Given the description of an element on the screen output the (x, y) to click on. 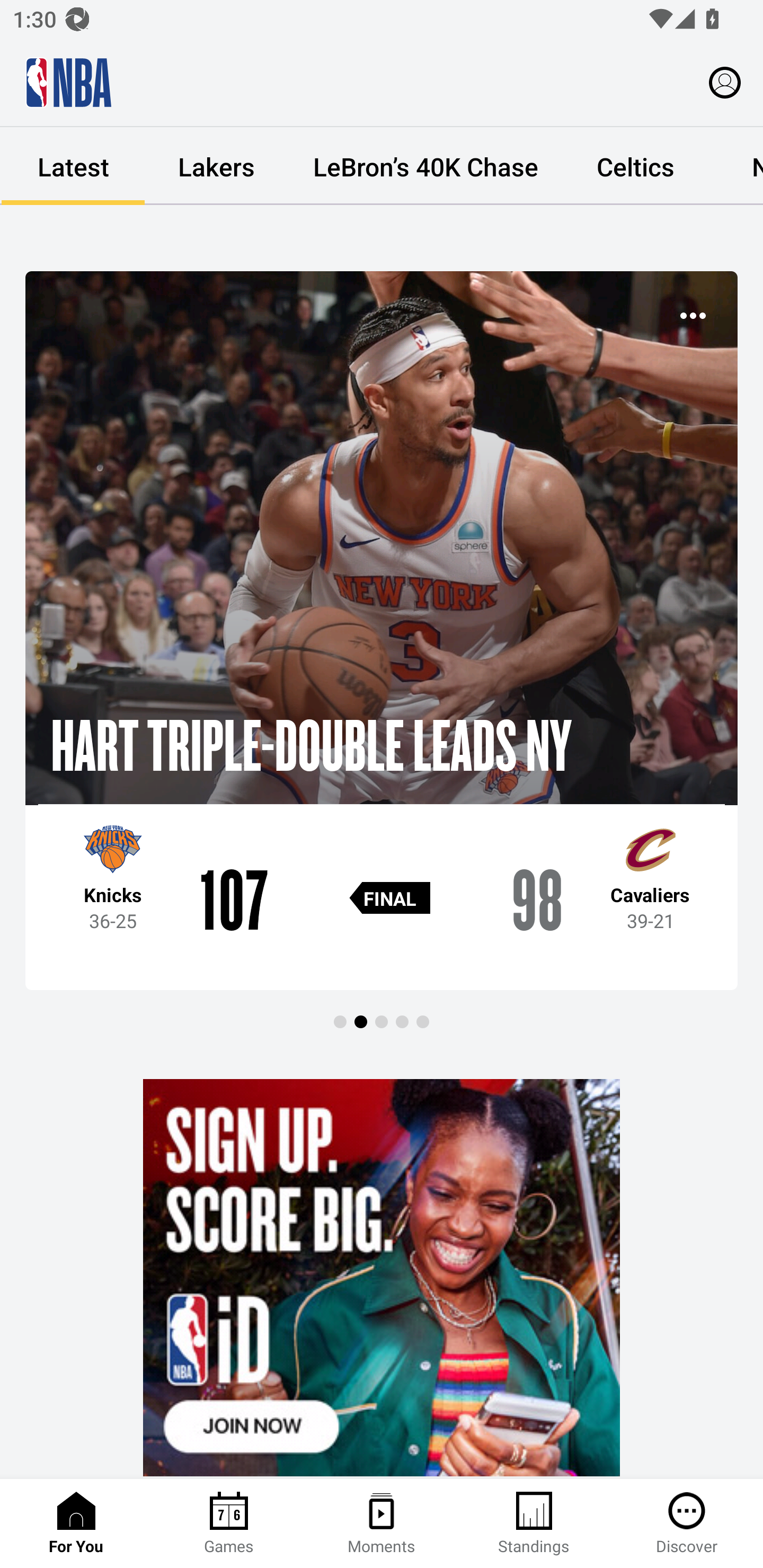
Profile (724, 81)
Lakers (215, 166)
LeBron’s 40K Chase (425, 166)
Celtics (634, 166)
Games (228, 1523)
Moments (381, 1523)
Standings (533, 1523)
Discover (686, 1523)
